Given the description of an element on the screen output the (x, y) to click on. 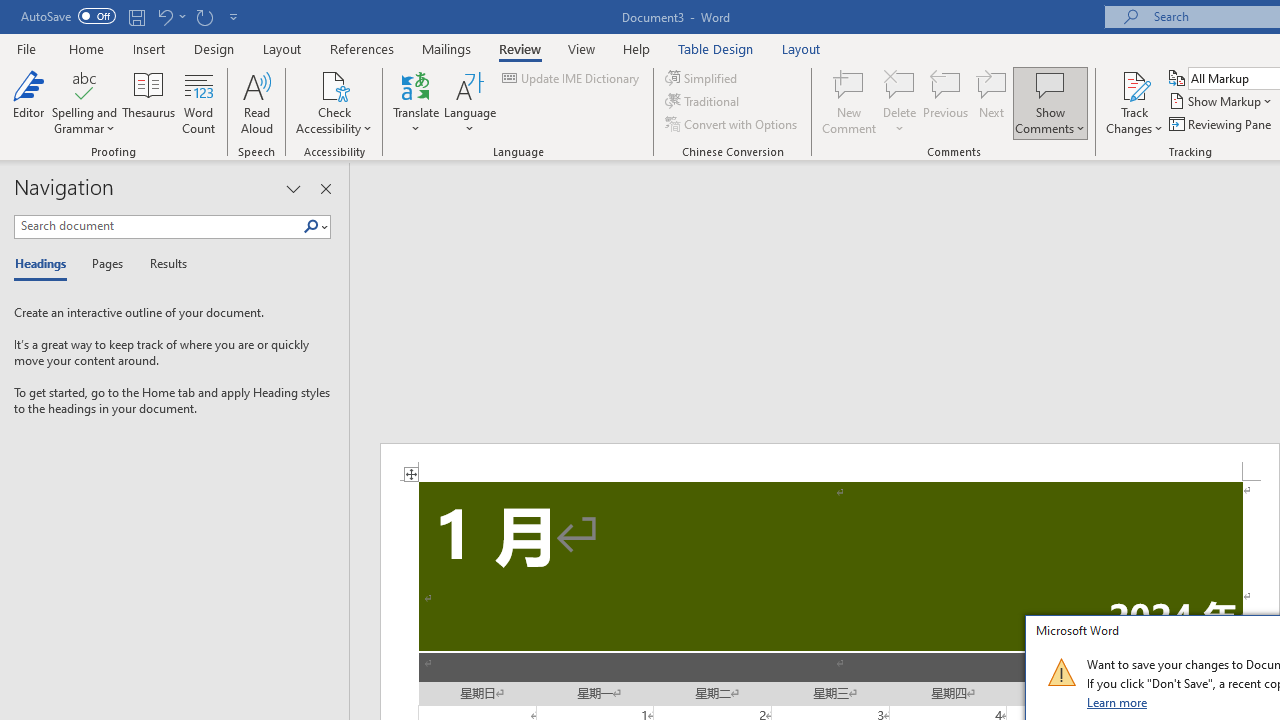
Simplified (702, 78)
Check Accessibility (334, 102)
Convert with Options... (732, 124)
Next (991, 102)
Show Markup (1222, 101)
Update IME Dictionary... (572, 78)
Spelling and Grammar (84, 102)
Undo Increase Indent (164, 15)
Reviewing Pane (1221, 124)
